Given the description of an element on the screen output the (x, y) to click on. 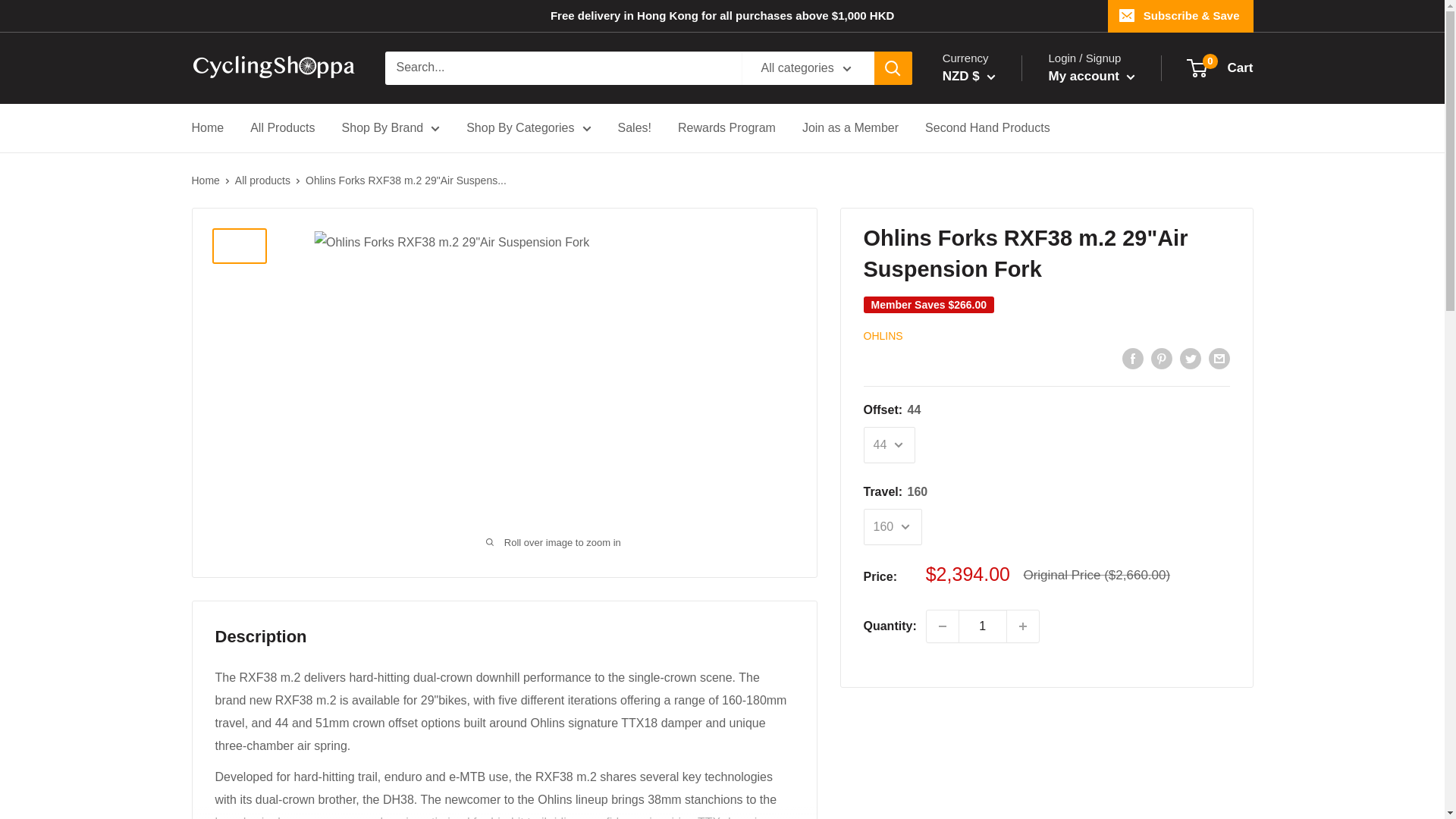
Increase quantity by 1 (1023, 626)
Decrease quantity by 1 (942, 626)
1 (982, 626)
